Given the description of an element on the screen output the (x, y) to click on. 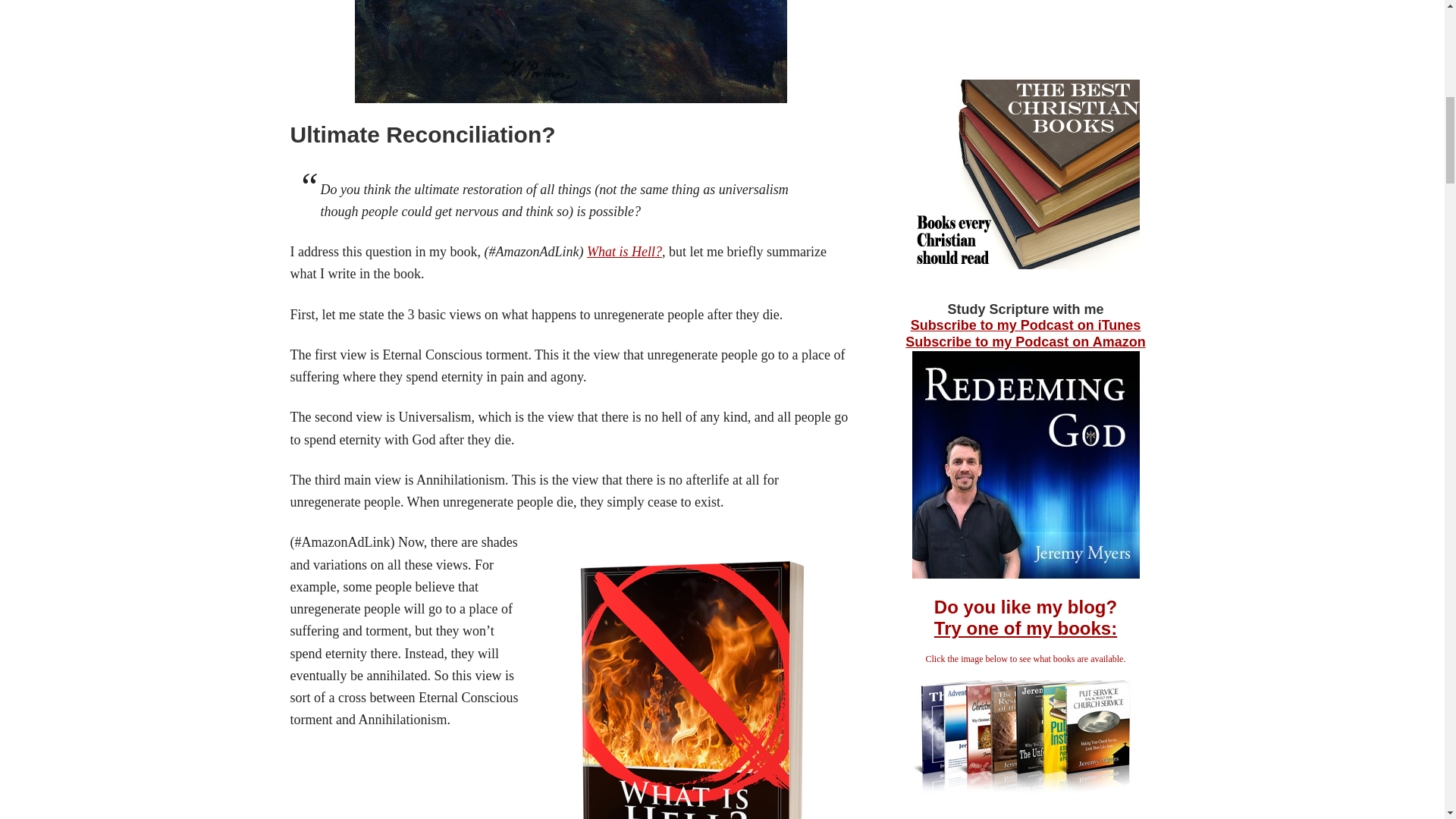
Best Christian Books (1024, 264)
What is Hell? (624, 251)
Books by Jeremy Myers (1025, 628)
Advertisement (1025, 24)
Books by Jeremy Myers (1024, 789)
